Given the description of an element on the screen output the (x, y) to click on. 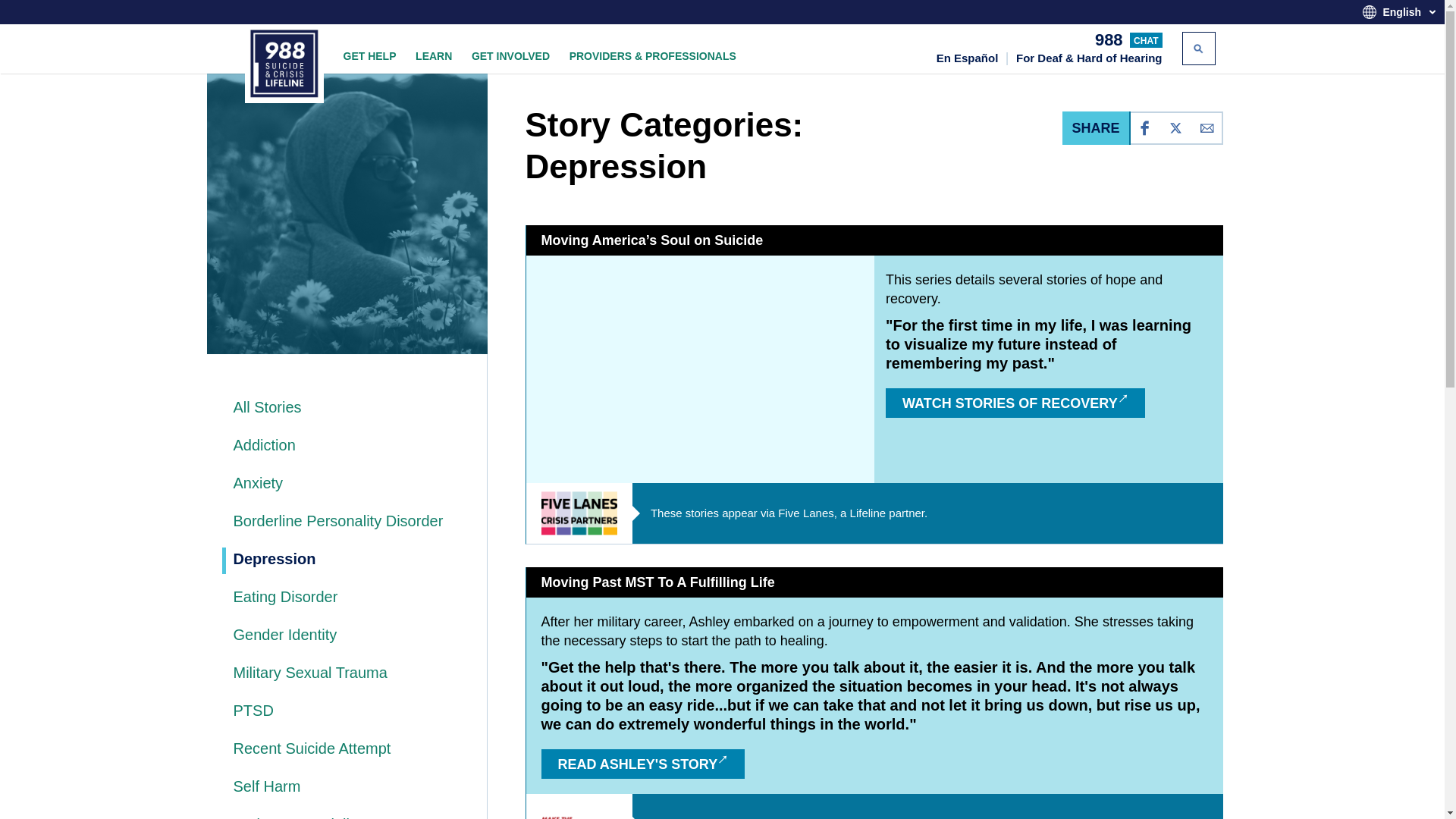
LEARN (432, 56)
GET INVOLVED (510, 56)
CHAT (1145, 39)
MASoSfilm.com (700, 369)
GET HELP (369, 56)
Toggle search (1197, 48)
988 (1108, 39)
Go back to home page (283, 63)
